Given the description of an element on the screen output the (x, y) to click on. 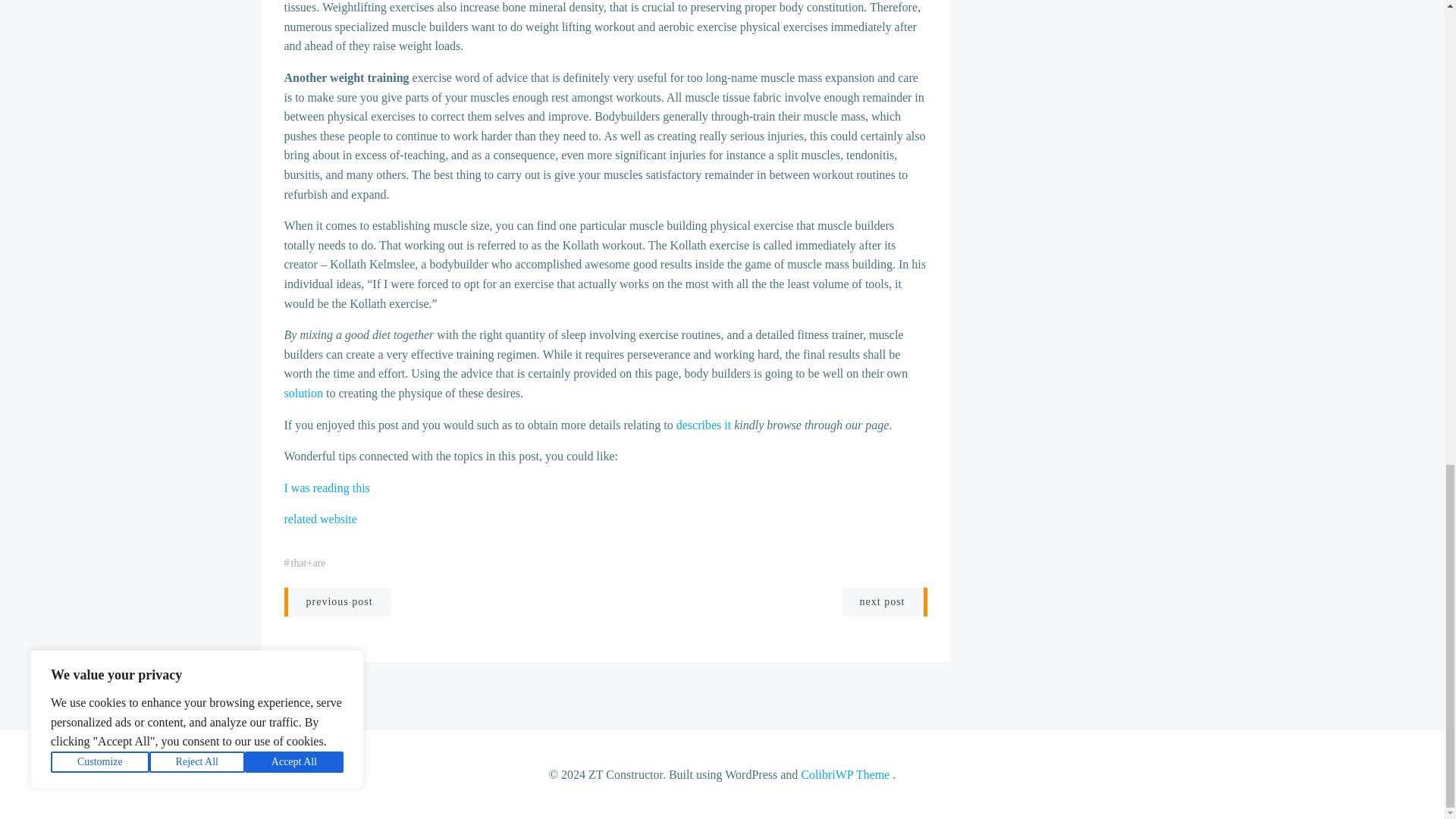
next post (884, 602)
previous post (336, 602)
related website (319, 518)
describes it (703, 424)
solution (303, 392)
I was reading this (326, 487)
